Given the description of an element on the screen output the (x, y) to click on. 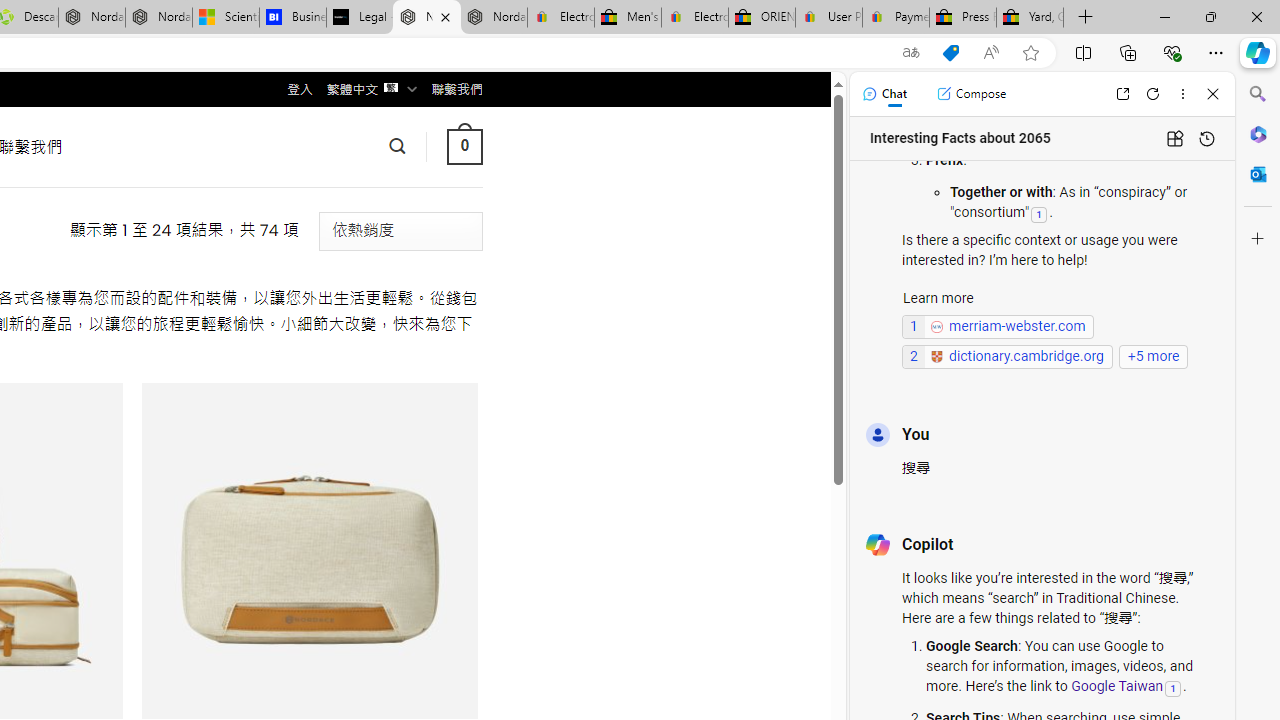
User Privacy Notice | eBay (828, 17)
Open link in new tab (1122, 93)
 0  (464, 146)
Electronics, Cars, Fashion, Collectibles & More | eBay (694, 17)
Payments Terms of Use | eBay.com (895, 17)
  0   (464, 146)
Chat (884, 93)
